Given the description of an element on the screen output the (x, y) to click on. 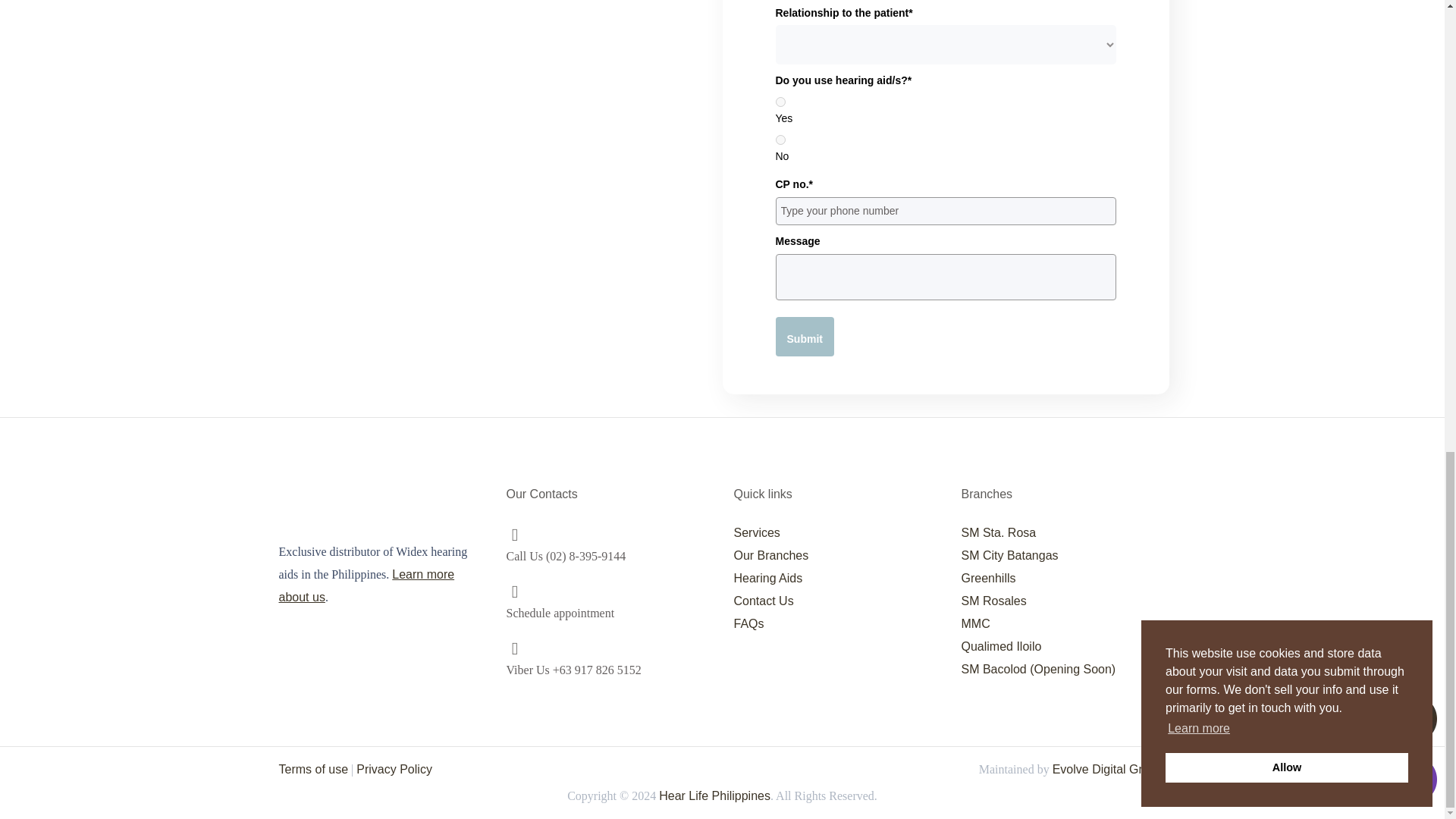
No (779, 139)
Yes (779, 102)
About Us (366, 585)
